Given the description of an element on the screen output the (x, y) to click on. 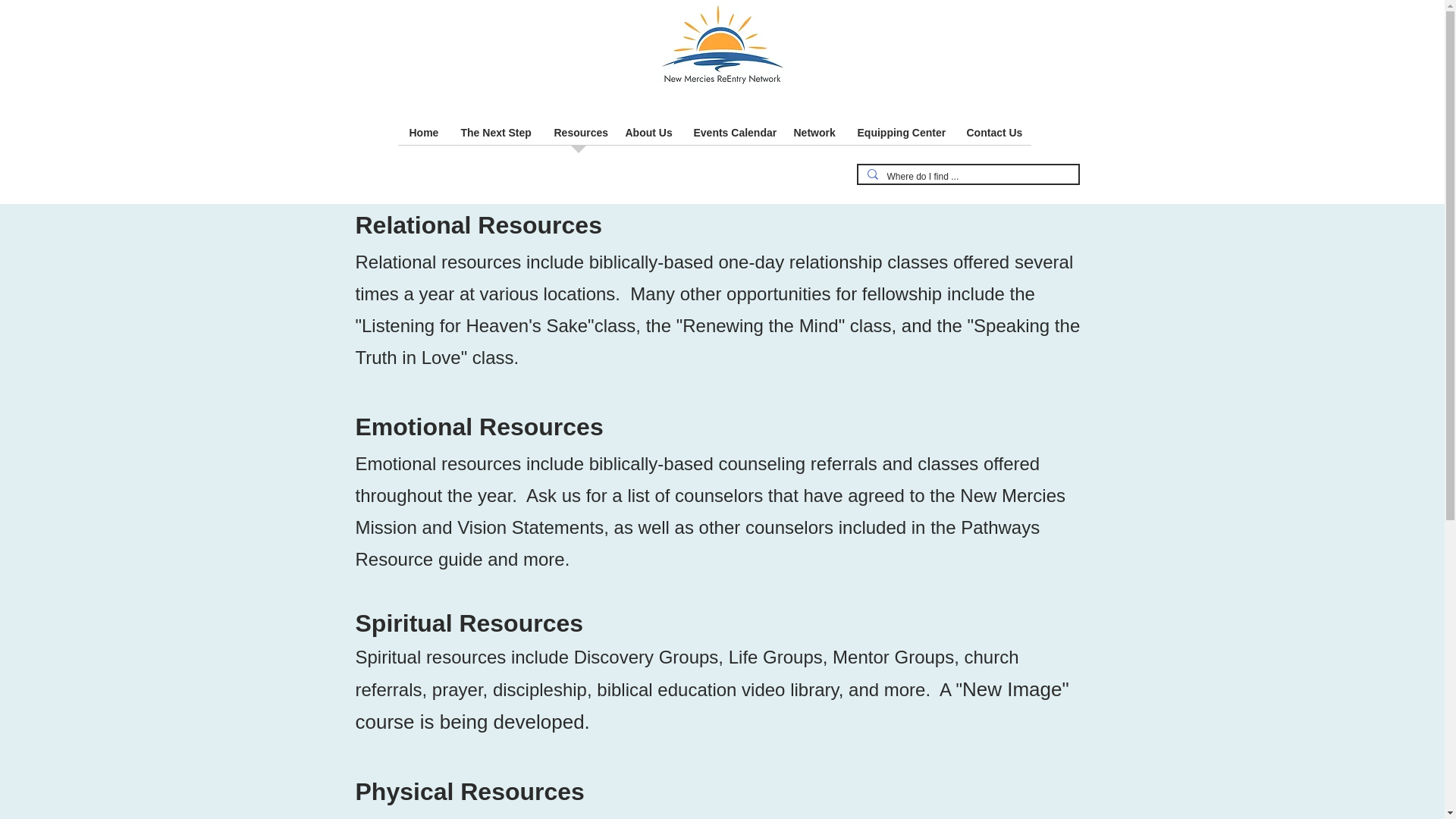
Resources (578, 137)
NMRN Logo.jpg (721, 48)
The Next Step (494, 137)
Events Calendar (732, 137)
Equipping Center (900, 137)
Network (814, 137)
About Us (648, 137)
Home (422, 137)
Contact Us (992, 137)
